Given the description of an element on the screen output the (x, y) to click on. 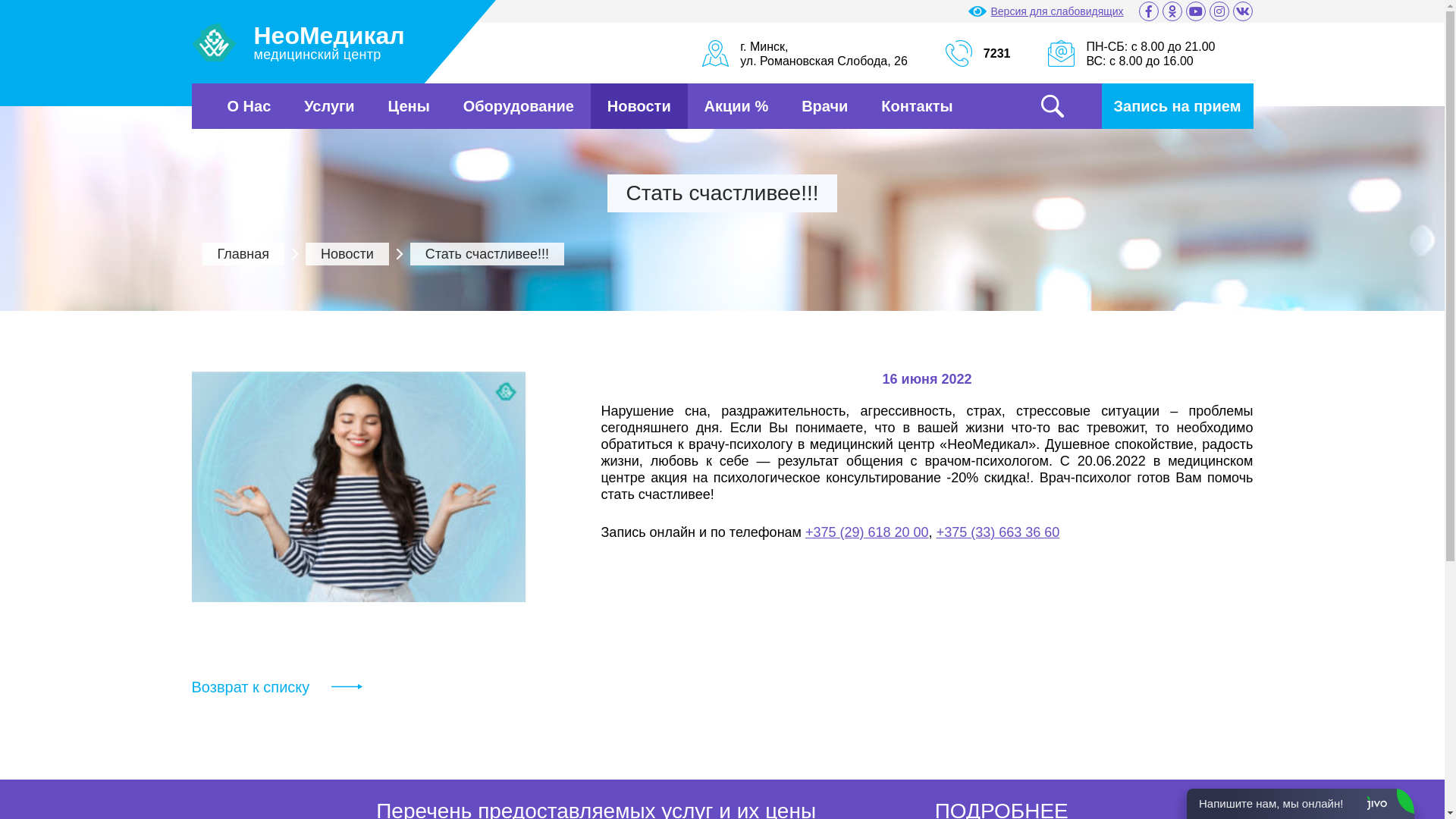
+375 (29) 618 20 00 Element type: text (866, 531)
+375 (33) 663 36 60 Element type: text (998, 531)
7231 Element type: text (996, 53)
